Given the description of an element on the screen output the (x, y) to click on. 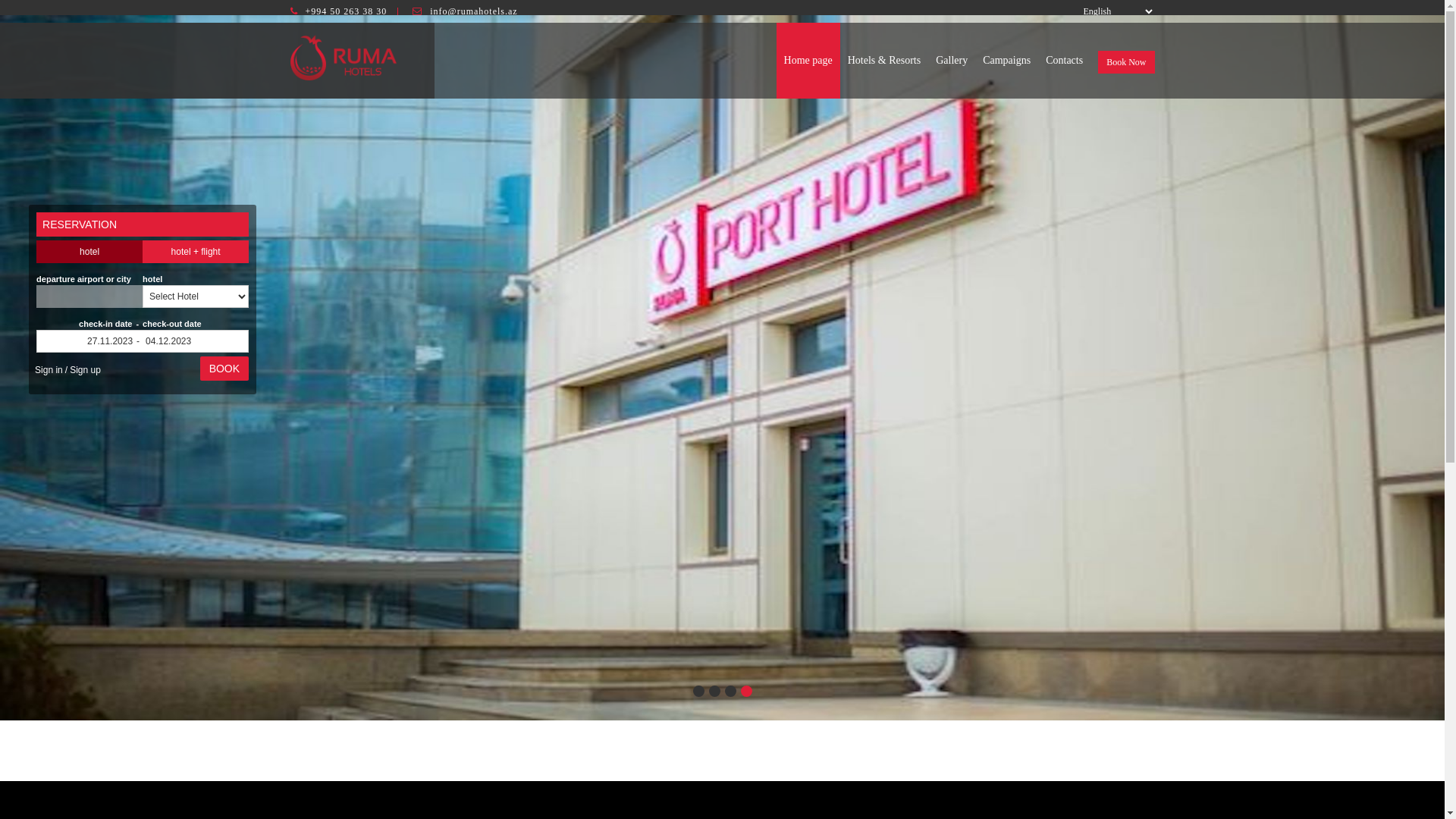
27.11.2023 Element type: text (89, 340)
Book Now Element type: text (1126, 61)
+994 50 263 38 30 Element type: text (345, 11)
BOOK Element type: text (224, 368)
Campaigns Element type: text (1006, 60)
Gallery Element type: text (951, 60)
Contacts Element type: text (1064, 60)
Home page Element type: text (808, 60)
Sign in Element type: text (48, 369)
info@rumahotels.az Element type: text (473, 11)
Hotels & Resorts Element type: text (884, 60)
04.12.2023 Element type: text (195, 340)
Sign up Element type: text (85, 369)
